Given the description of an element on the screen output the (x, y) to click on. 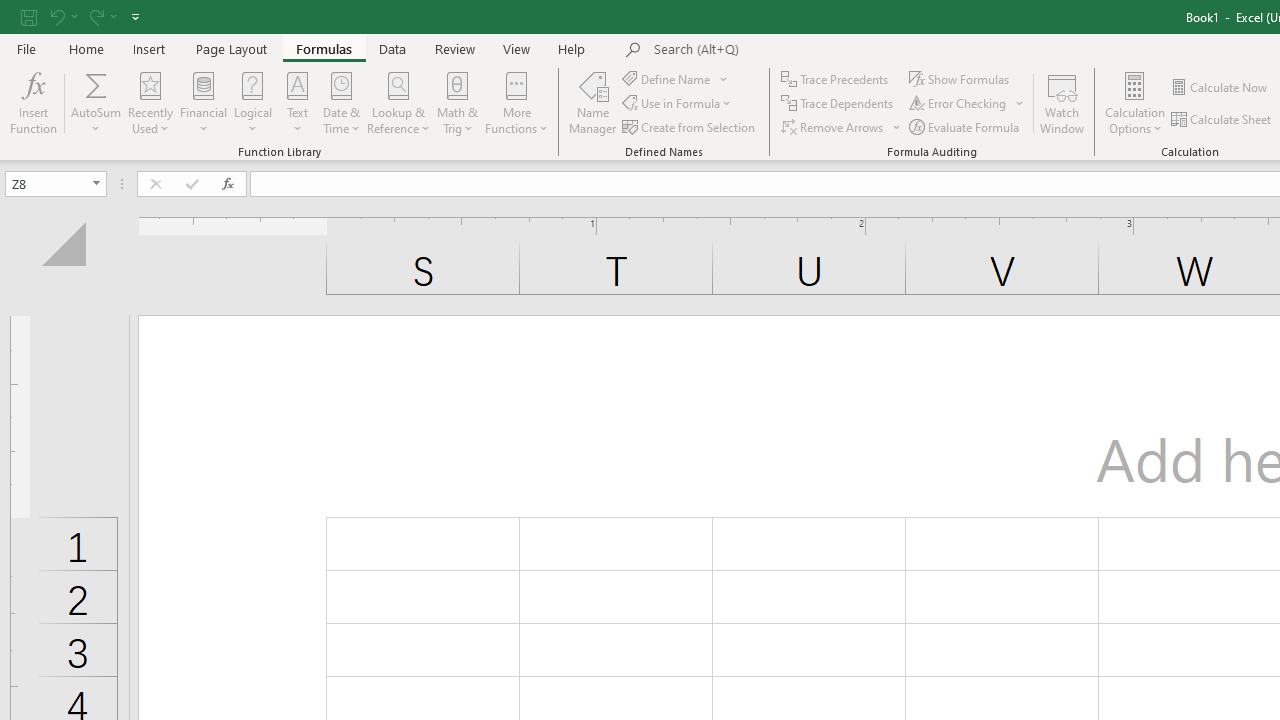
Remove Arrows (833, 126)
Insert Function... (33, 102)
Trace Precedents (836, 78)
